Given the description of an element on the screen output the (x, y) to click on. 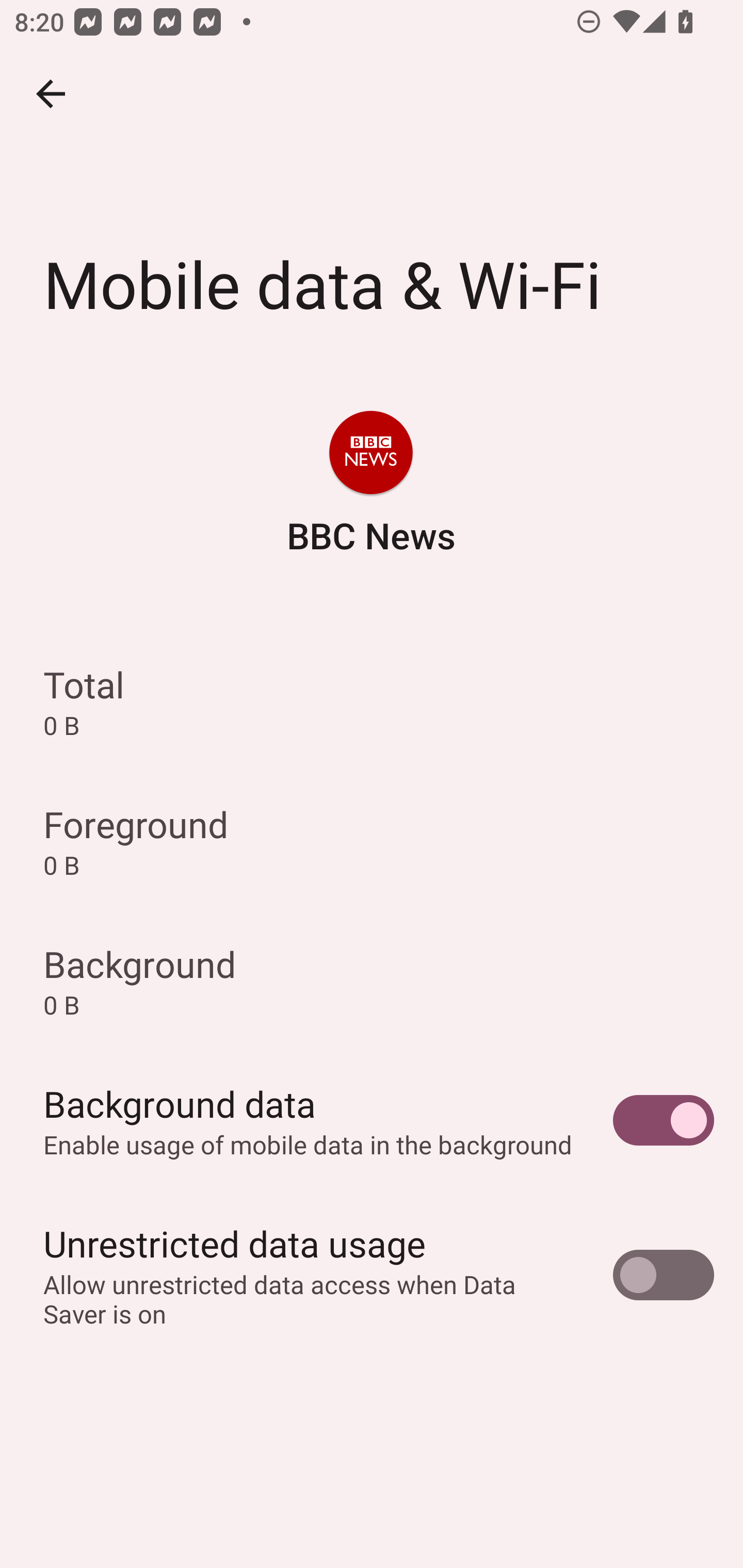
Navigate up (50, 93)
BBC News (370, 484)
